Given the description of an element on the screen output the (x, y) to click on. 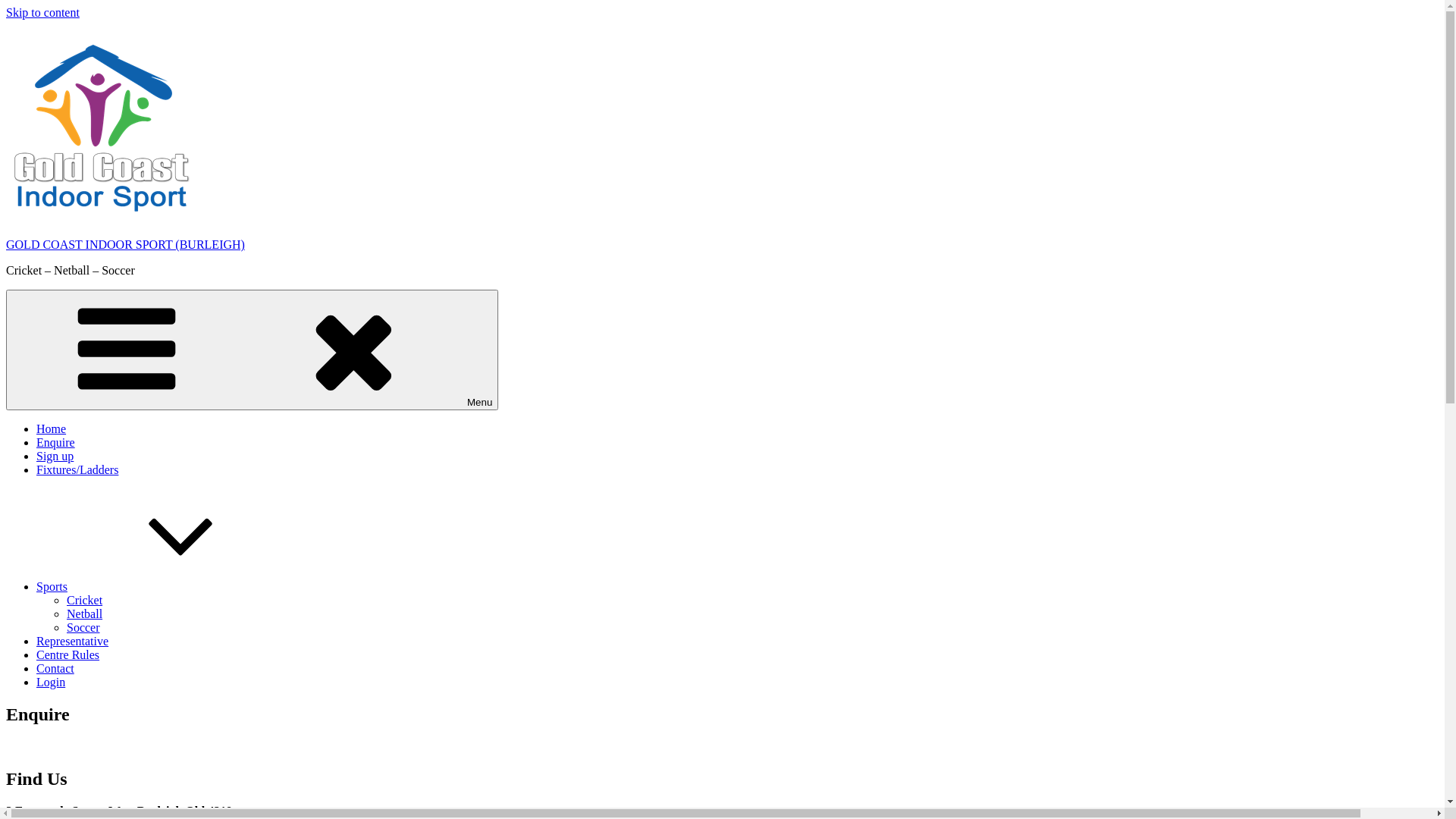
Soccer Element type: text (83, 627)
Netball Element type: text (84, 613)
Login Element type: text (50, 681)
Sports Element type: text (165, 586)
Representative Element type: text (72, 640)
Contact Element type: text (55, 668)
Home Element type: text (50, 428)
Sign up Element type: text (54, 455)
GOLD COAST INDOOR SPORT (BURLEIGH) Element type: text (125, 244)
Menu Element type: text (252, 349)
Skip to content Element type: text (42, 12)
Enquire Element type: text (55, 442)
Cricket Element type: text (84, 599)
Fixtures/Ladders Element type: text (77, 469)
Centre Rules Element type: text (67, 654)
